Given the description of an element on the screen output the (x, y) to click on. 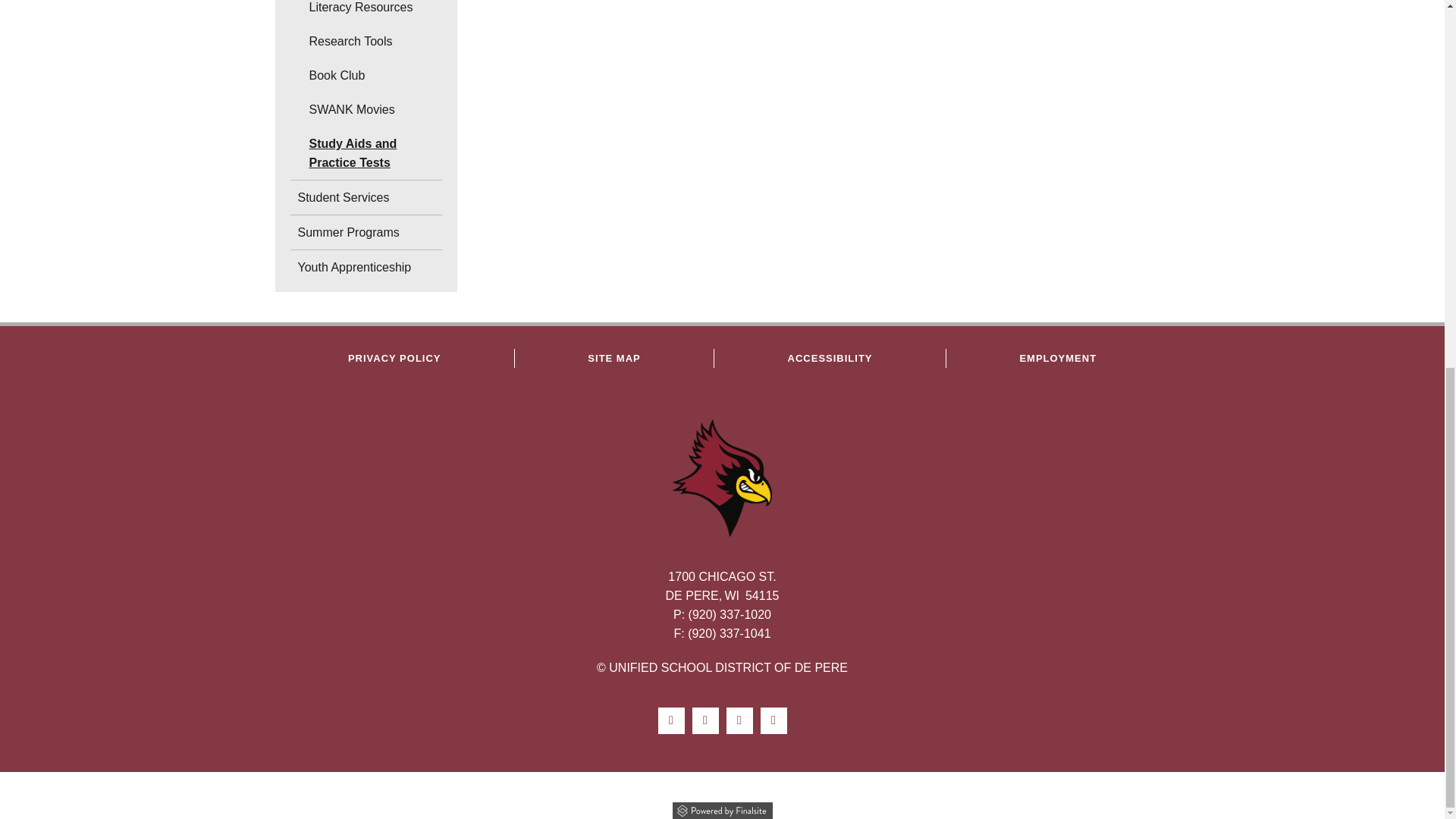
Powered by Finalsite opens in a new window (722, 808)
